Given the description of an element on the screen output the (x, y) to click on. 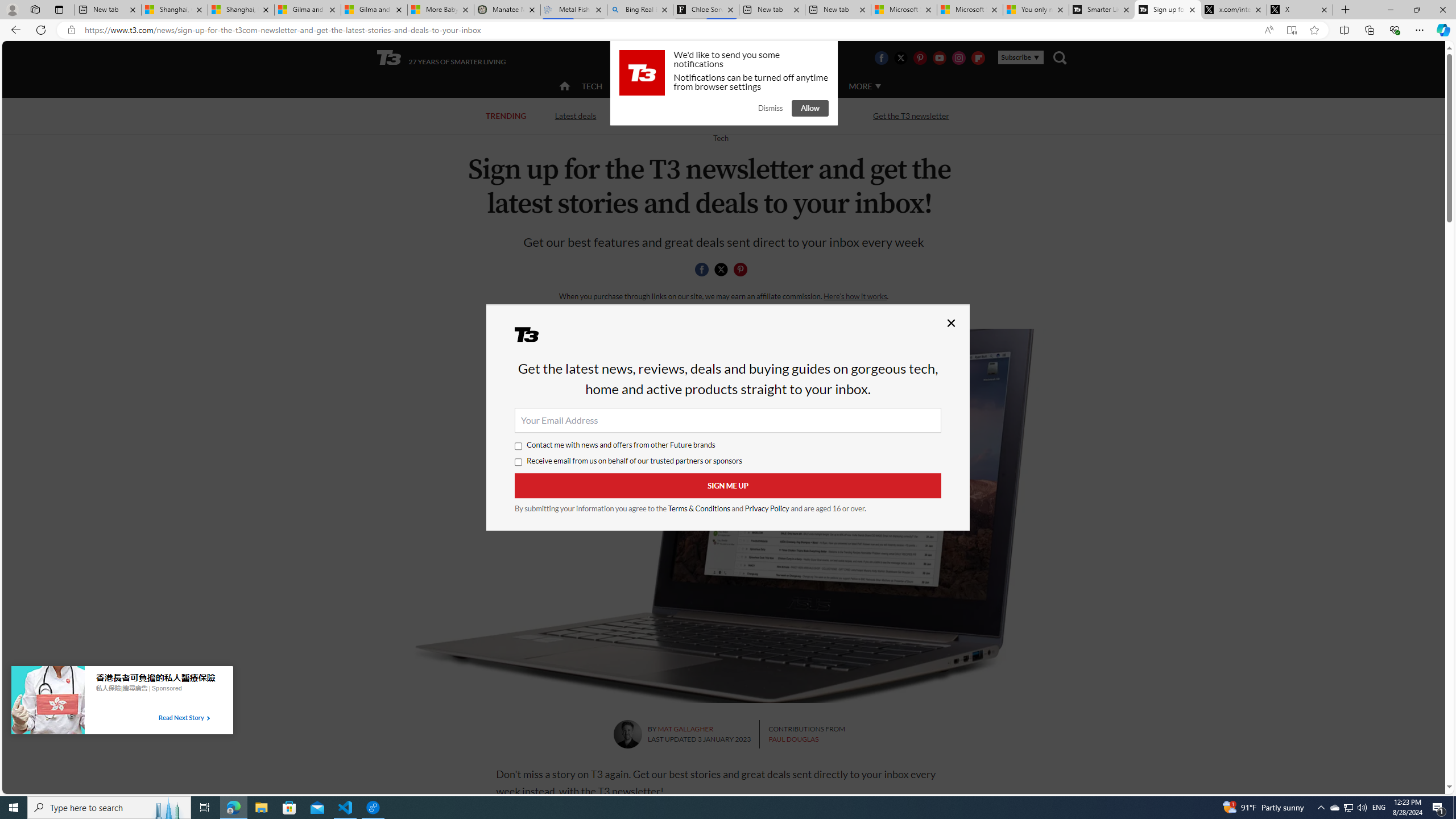
Smarter Living | T3 (1102, 9)
ACTIVE (638, 86)
Latest deals (575, 115)
PAUL DOUGLAS (793, 738)
Enter Immersive Reader (F9) (1291, 29)
Visit us on Facebook (880, 57)
